Given the description of an element on the screen output the (x, y) to click on. 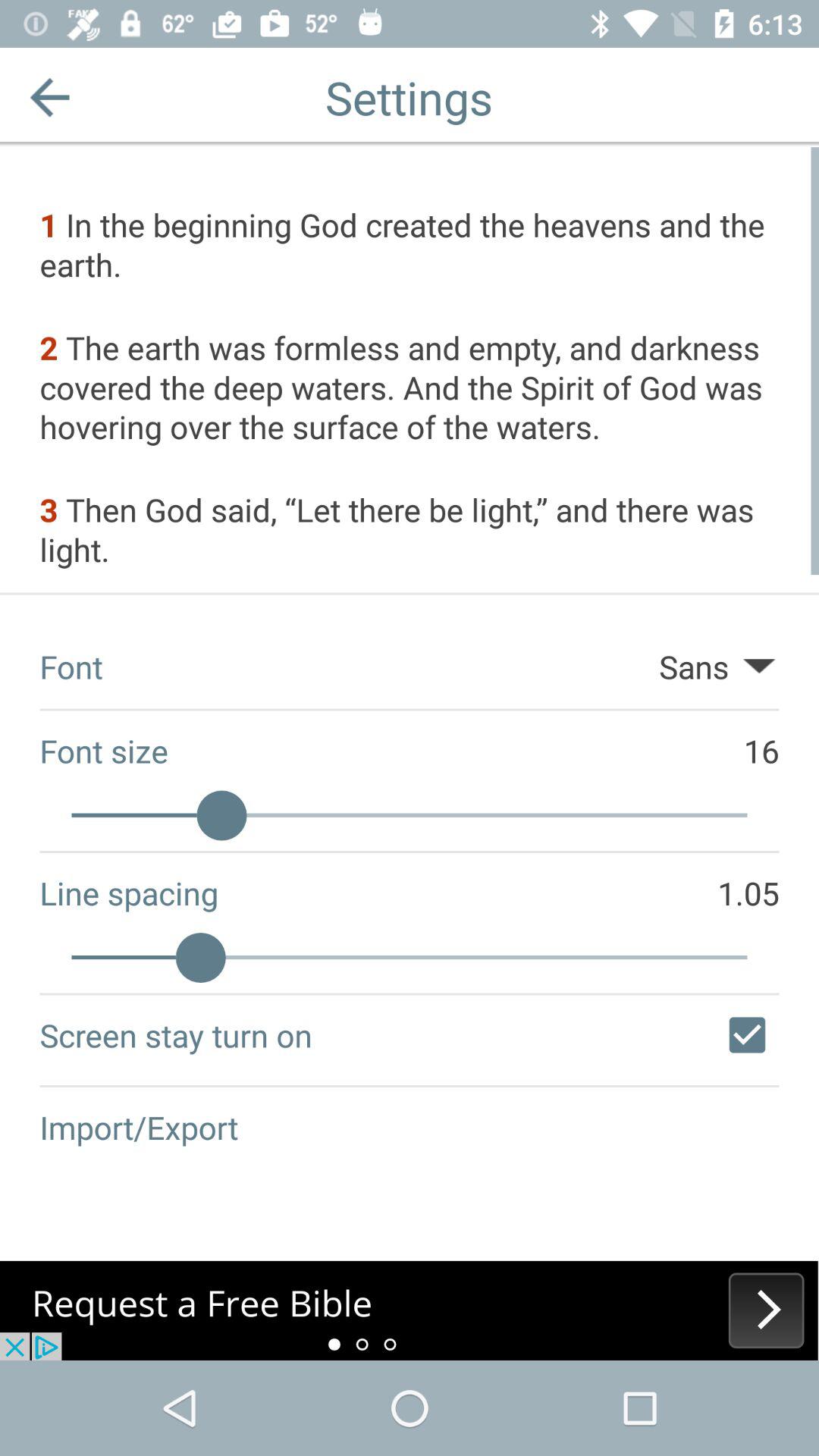
flag to make screen stay turned on (747, 1034)
